Given the description of an element on the screen output the (x, y) to click on. 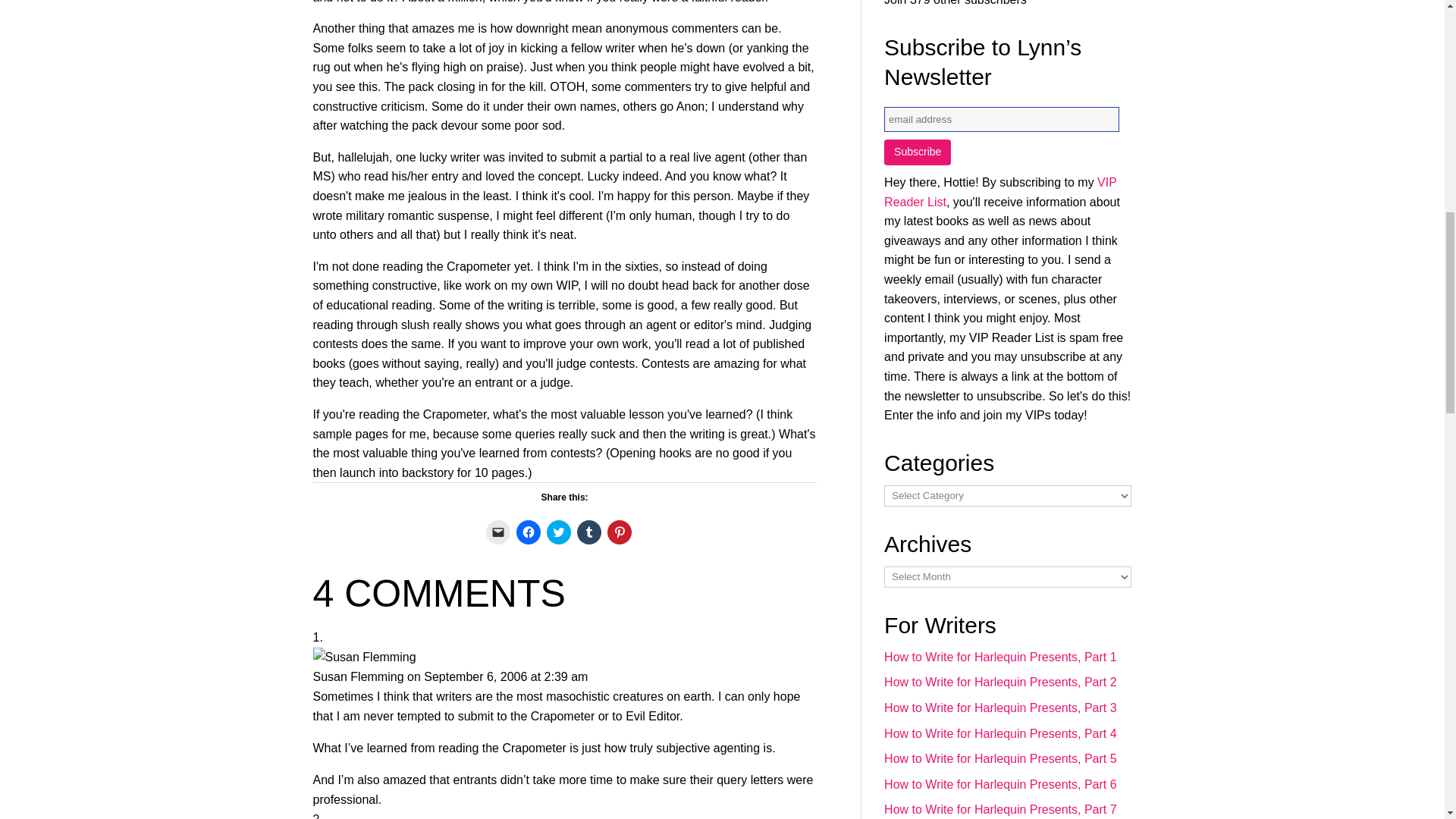
Click to share on Pinterest (619, 532)
Click to share on Facebook (528, 532)
Subscribe (916, 152)
Subscribe (916, 152)
Click to share on Tumblr (588, 532)
Click to email a link to a friend (498, 532)
Click to share on Twitter (558, 532)
